Given the description of an element on the screen output the (x, y) to click on. 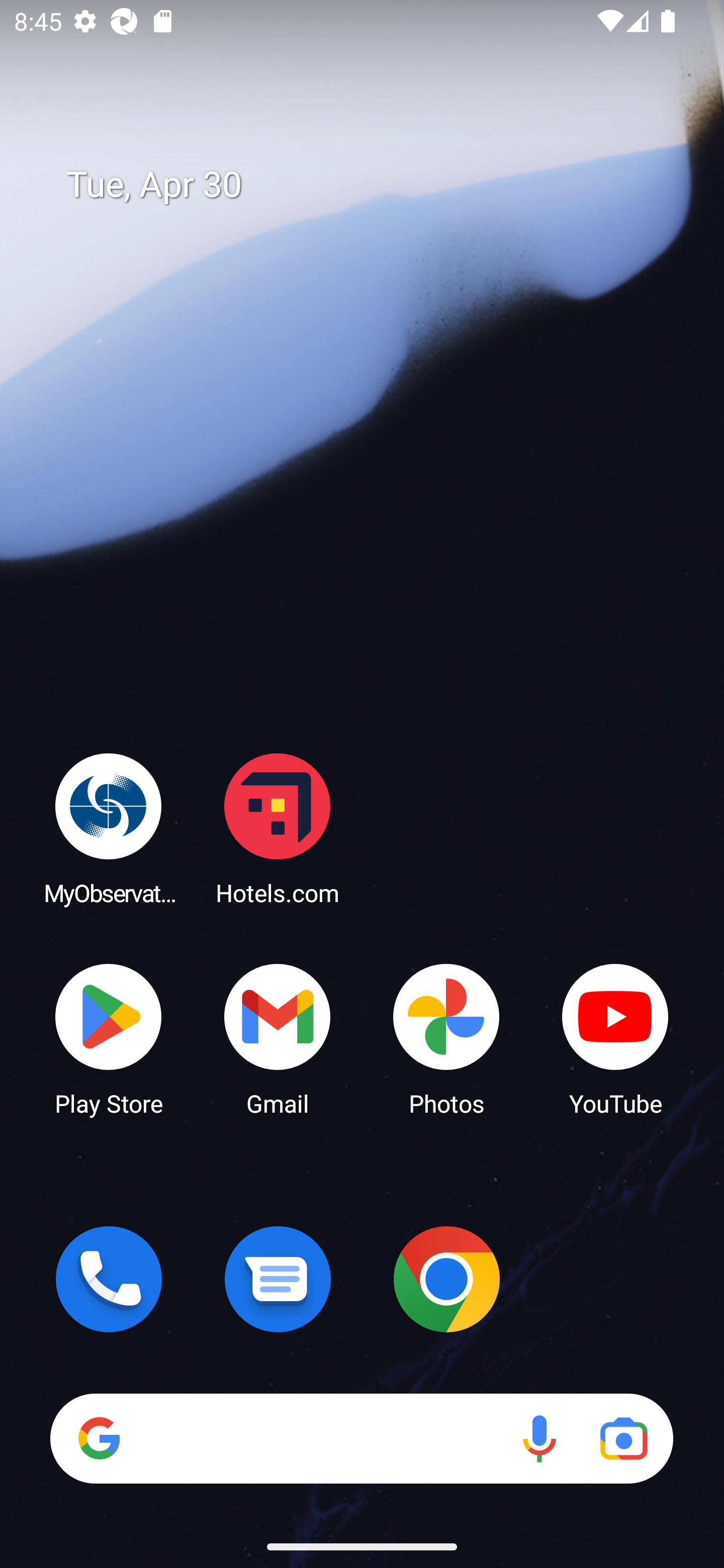
Tue, Apr 30 (375, 184)
MyObservatory (108, 828)
Hotels.com (277, 828)
Play Store (108, 1038)
Gmail (277, 1038)
Photos (445, 1038)
YouTube (615, 1038)
Phone (108, 1279)
Messages (277, 1279)
Chrome (446, 1279)
Voice search (539, 1438)
Google Lens (623, 1438)
